Given the description of an element on the screen output the (x, y) to click on. 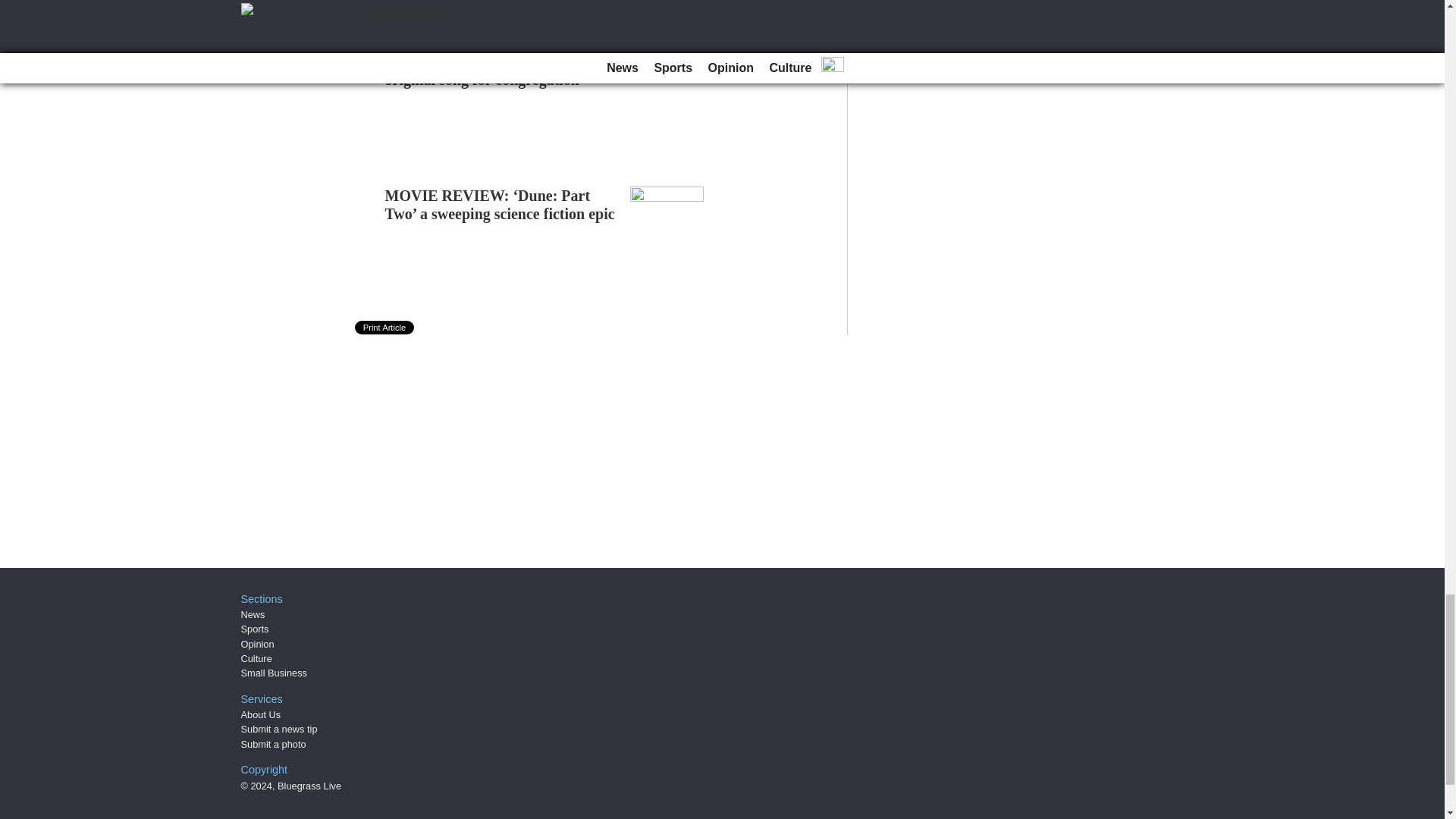
About Us (261, 714)
Opinion (258, 644)
Small Business (274, 672)
Submit a photo (273, 744)
News (252, 614)
Submit a news tip (279, 728)
Print Article (384, 327)
Sports (255, 628)
Culture (256, 658)
